Given the description of an element on the screen output the (x, y) to click on. 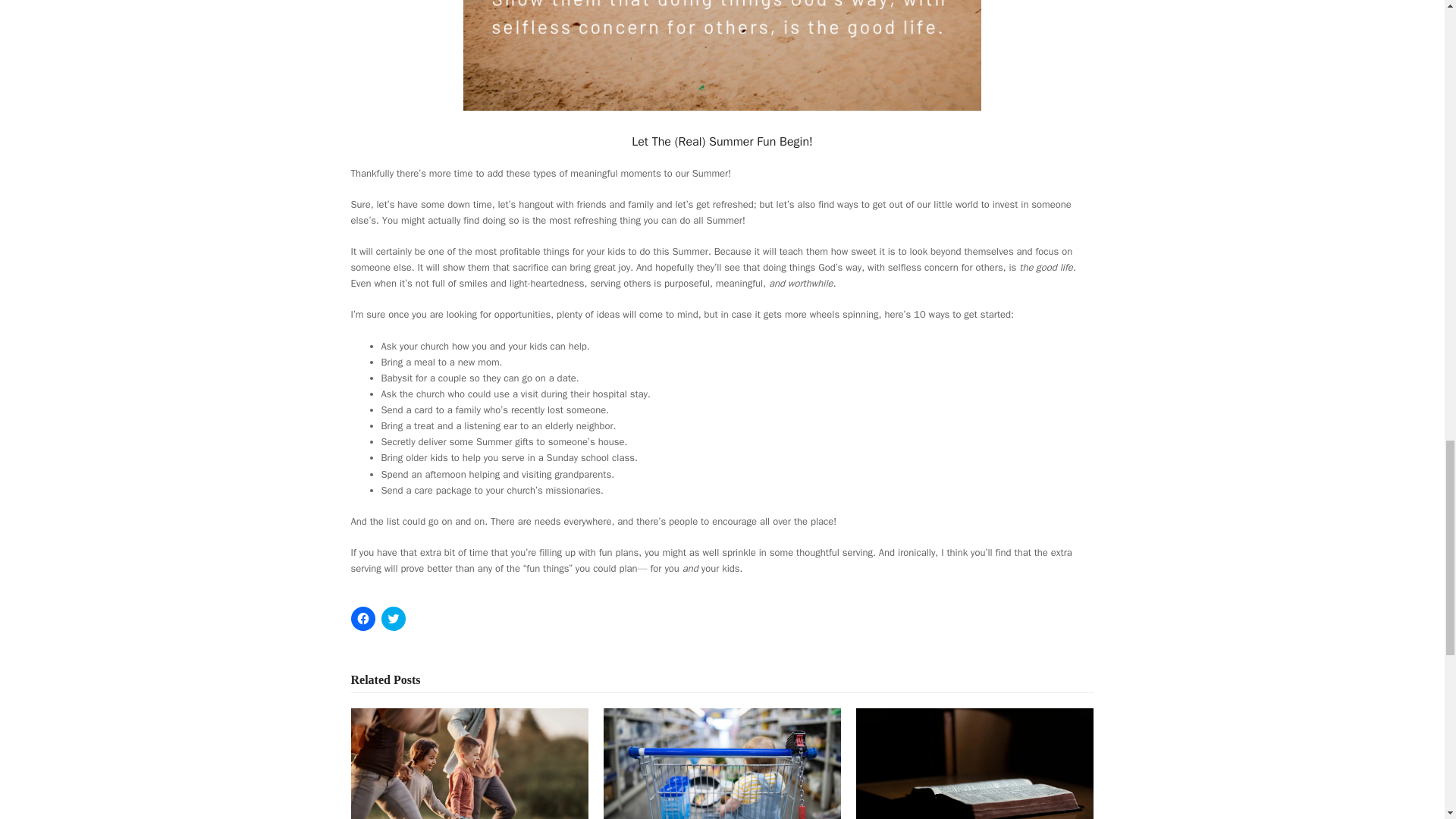
Click to share on Twitter (392, 618)
Conquering the Dreaded Task of Shopping with Littles (722, 774)
Help Your Kids Think Deeply About Christianity (974, 786)
Click to share on Facebook (362, 618)
How Much Should We Shelter our Kids? (469, 786)
